Given the description of an element on the screen output the (x, y) to click on. 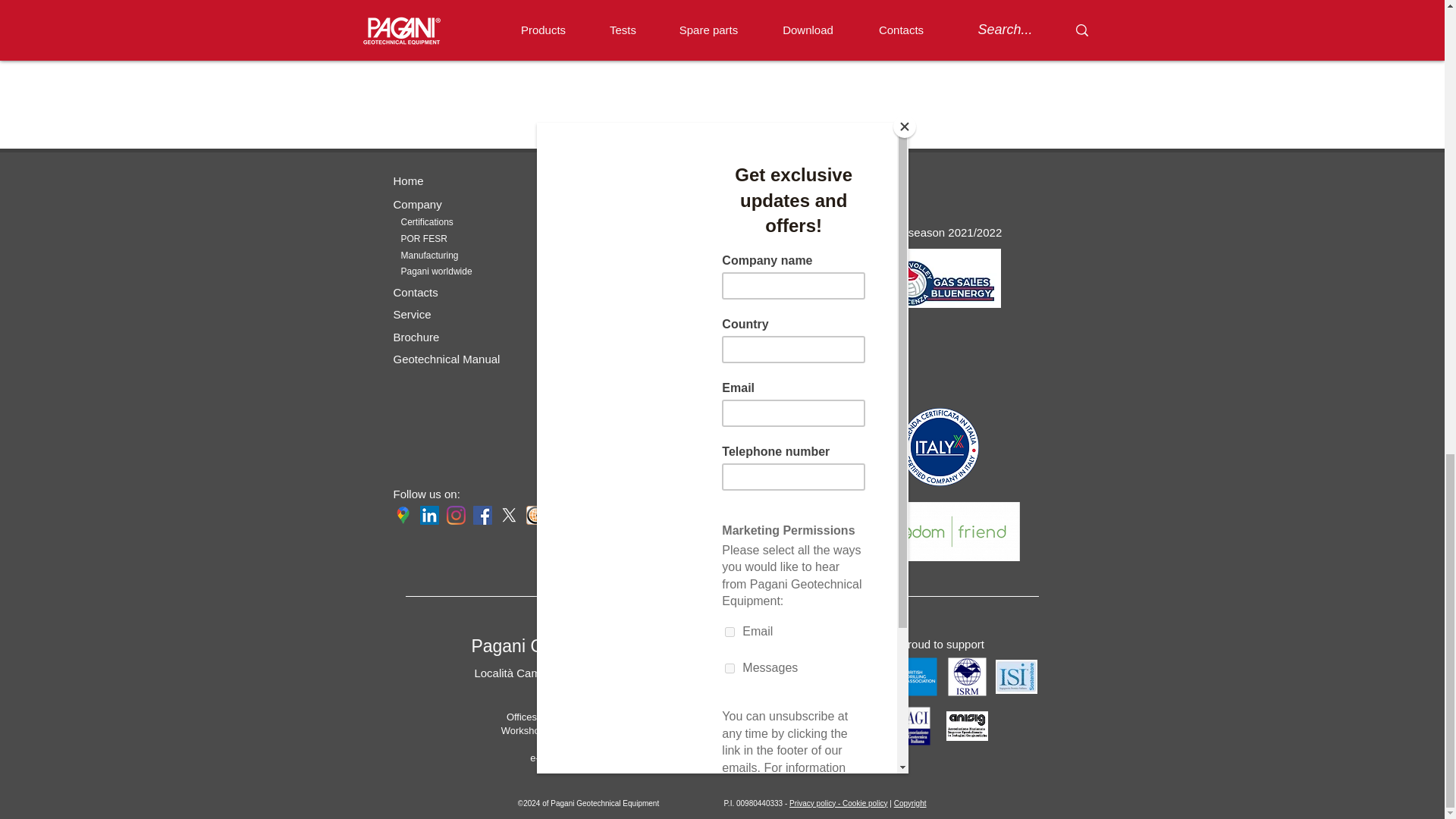
Pagani worldwide (435, 271)
TG 63-150 (746, 214)
Tests DP (593, 222)
DPM 30 (741, 330)
Manual DP (747, 347)
Spare parts (596, 180)
Self 24 (584, 317)
Video training (601, 293)
Embedded Content (938, 194)
Pagani per Treedom green (940, 531)
